Given the description of an element on the screen output the (x, y) to click on. 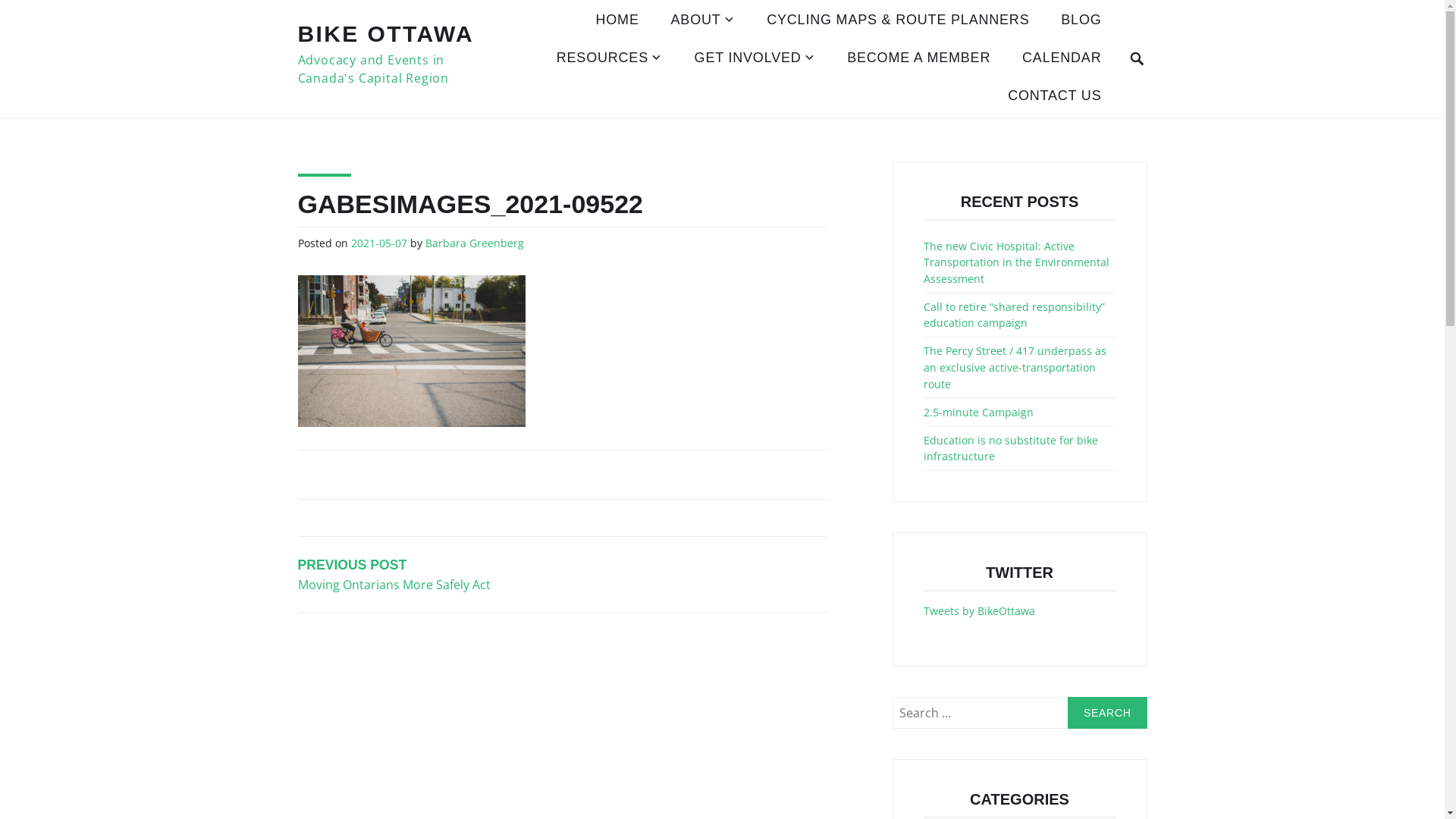
ABOUT Element type: text (703, 20)
CYCLING MAPS & ROUTE PLANNERS Element type: text (897, 20)
CALENDAR Element type: text (1061, 58)
BLOG Element type: text (1080, 20)
Search Element type: text (1107, 712)
HOME Element type: text (617, 20)
BIKE OTTAWA Element type: text (385, 33)
Tweets by BikeOttawa Element type: text (979, 611)
2021-05-07 Element type: text (378, 243)
PREVIOUS POST
Moving Ontarians More Safely Act Element type: text (429, 574)
RESOURCES Element type: text (609, 58)
BECOME A MEMBER Element type: text (918, 58)
2.5-minute Campaign Element type: text (978, 412)
Barbara Greenberg Element type: text (473, 243)
GET INVOLVED Element type: text (754, 58)
CONTACT US Element type: text (1054, 96)
Education is no substitute for bike infrastructure Element type: text (1010, 449)
